Given the description of an element on the screen output the (x, y) to click on. 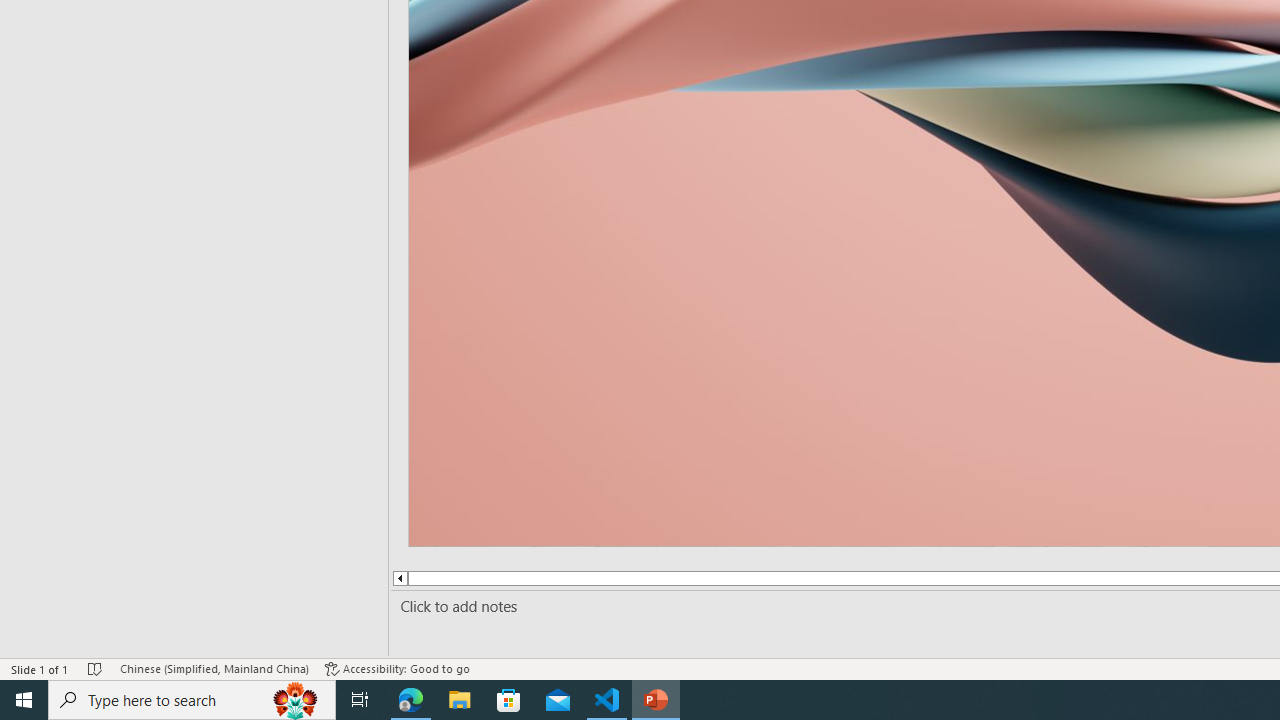
Accessibility Checker Accessibility: Good to go (397, 668)
